Given the description of an element on the screen output the (x, y) to click on. 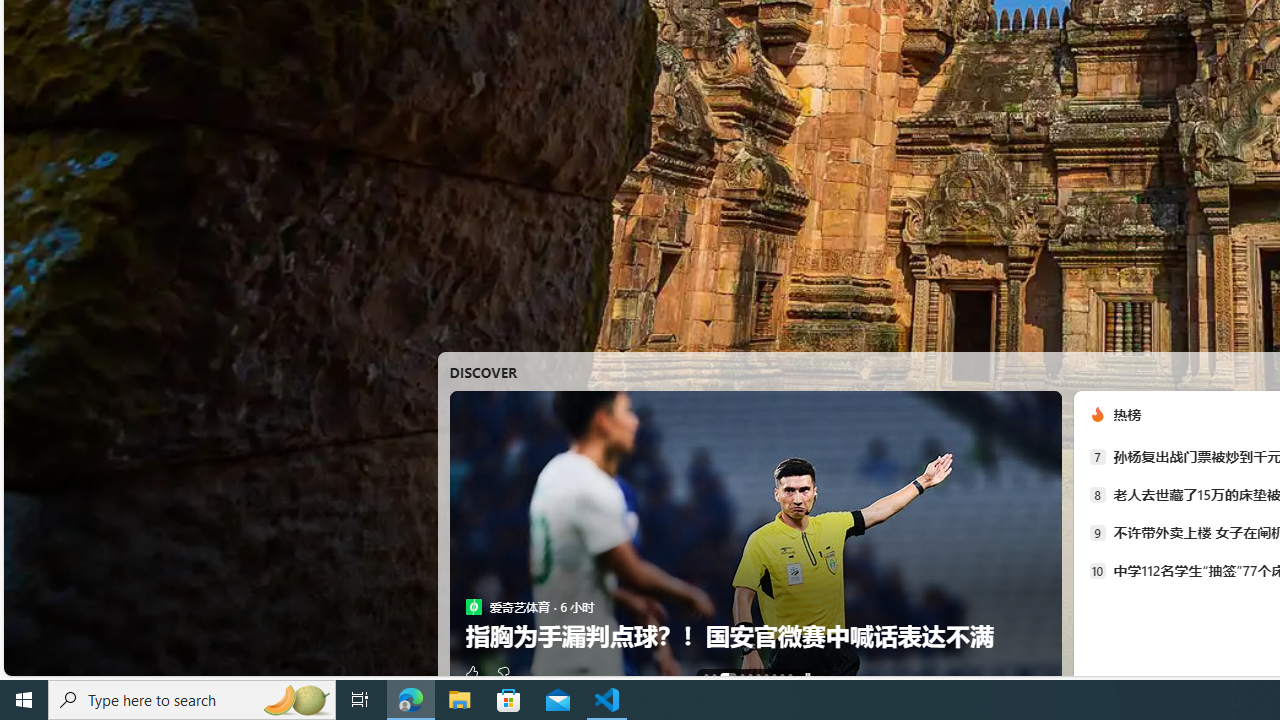
AutomationID: tab-8 (781, 675)
AutomationID: tab-3 (742, 675)
AutomationID: tab-5 (757, 675)
AutomationID: tab-4 (749, 675)
To get missing image descriptions, open the context menu. (1097, 414)
AutomationID: tab-1 (714, 675)
AutomationID: tab-2 (728, 675)
AutomationID: tab-6 (765, 675)
AutomationID: tab-0 (705, 675)
AutomationID: tab-9 (789, 675)
